Given the description of an element on the screen output the (x, y) to click on. 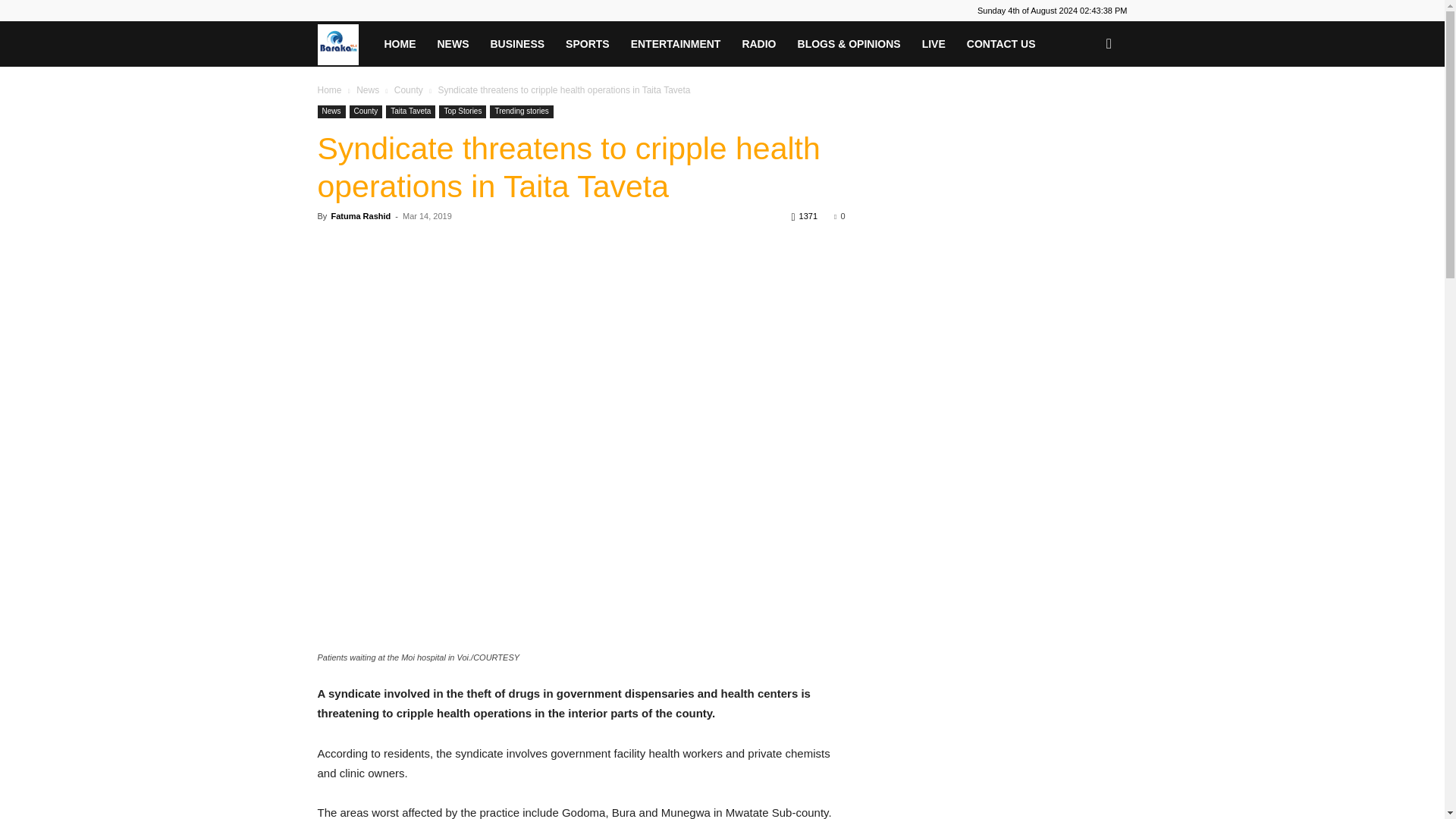
HOME (399, 43)
Baraka FM 95.5 (344, 43)
NEWS (452, 43)
